Given the description of an element on the screen output the (x, y) to click on. 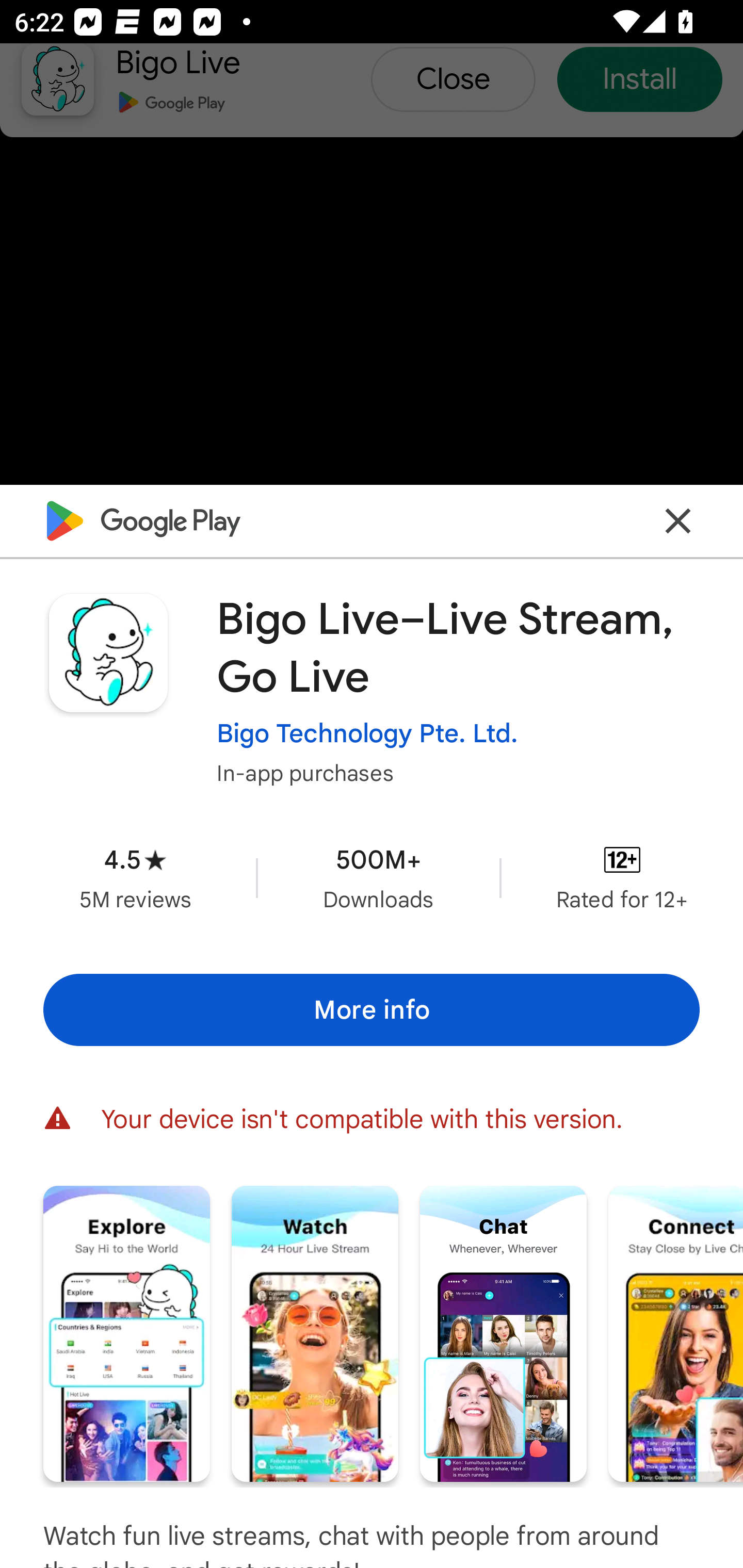
Close (677, 520)
Bigo Technology Pte. Ltd. (367, 732)
More info (371, 1009)
Screenshot "1" of "8" (126, 1333)
Screenshot "2" of "8" (314, 1333)
Screenshot "3" of "8" (502, 1333)
Screenshot "4" of "8" (675, 1333)
